Given the description of an element on the screen output the (x, y) to click on. 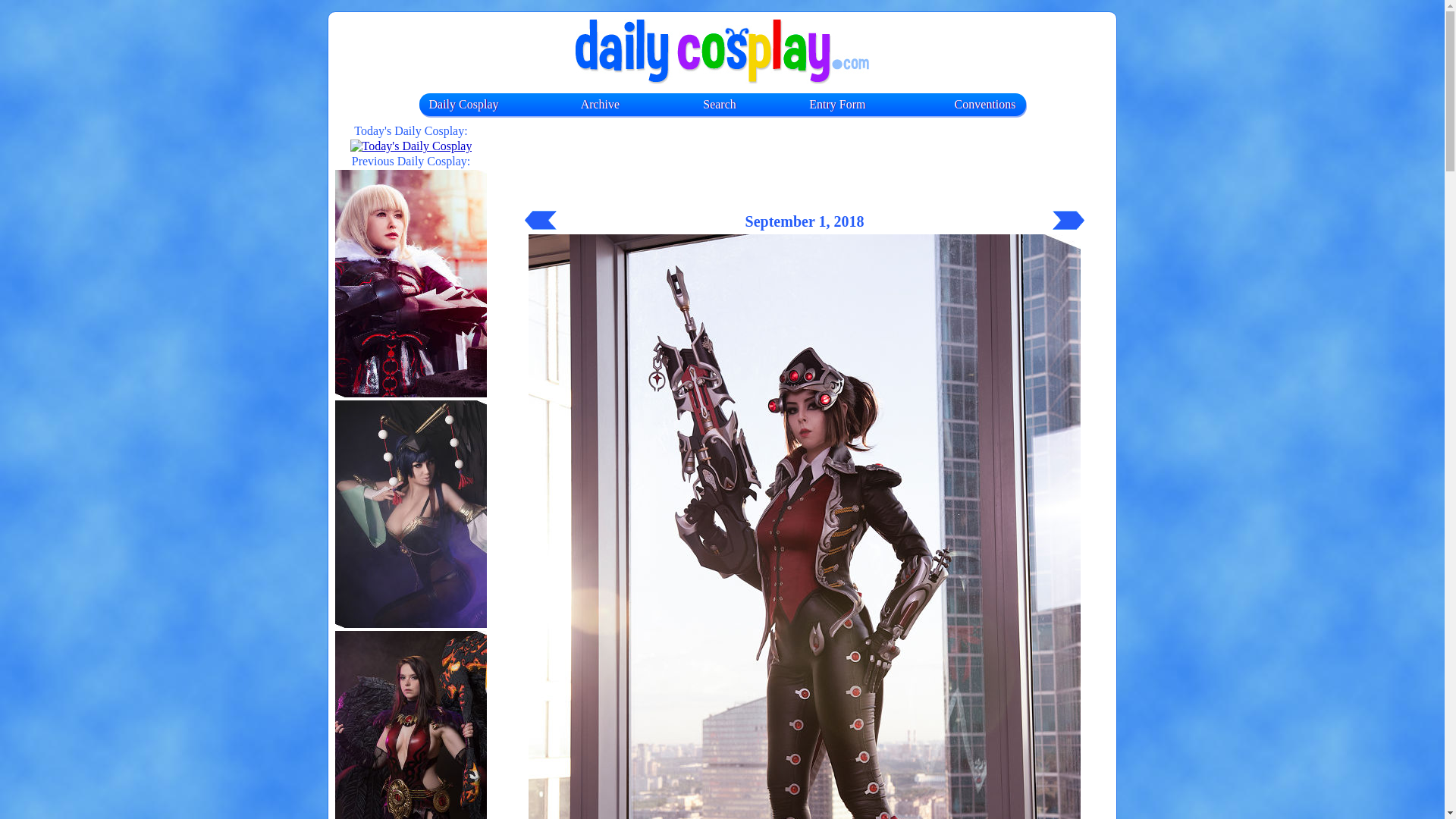
Previous (540, 220)
Cosplay Friendly Conventions (985, 103)
Entry Form (836, 103)
Daily Cosplay .com (722, 51)
Daily Cosplay (464, 103)
Archive (600, 103)
Today's Daily Cosplay (410, 146)
Search (719, 103)
Next (1068, 220)
Archive (600, 103)
Entry Form (836, 103)
Conventions (985, 103)
Daily Cosplay (464, 103)
Search (719, 103)
